Given the description of an element on the screen output the (x, y) to click on. 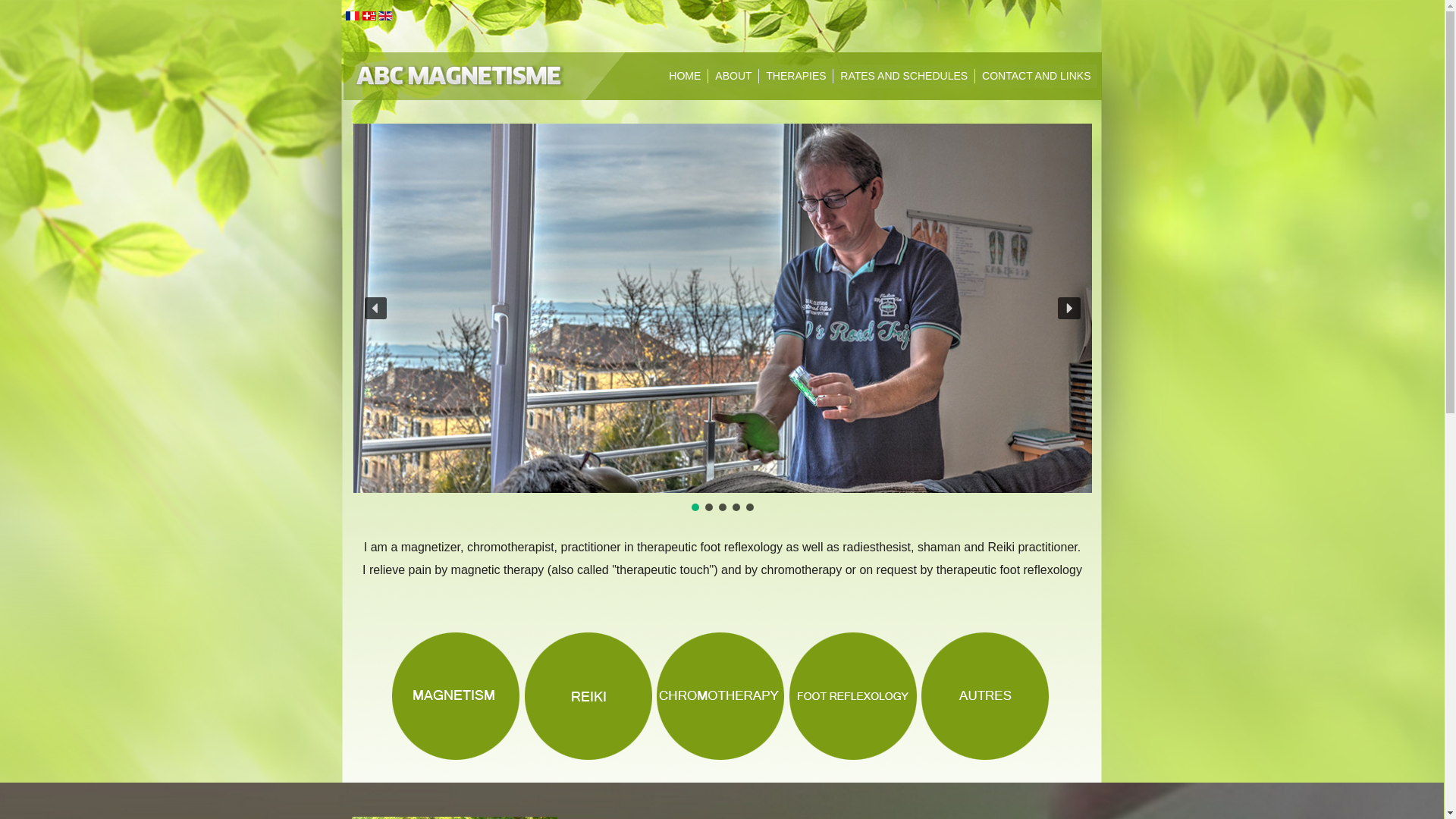
THERAPIES Element type: text (795, 75)
RATES AND SCHEDULES Element type: text (903, 75)
ABOUT Element type: text (733, 75)
CONTACT AND LINKS Element type: text (1035, 75)
HOME Element type: text (684, 75)
